Given the description of an element on the screen output the (x, y) to click on. 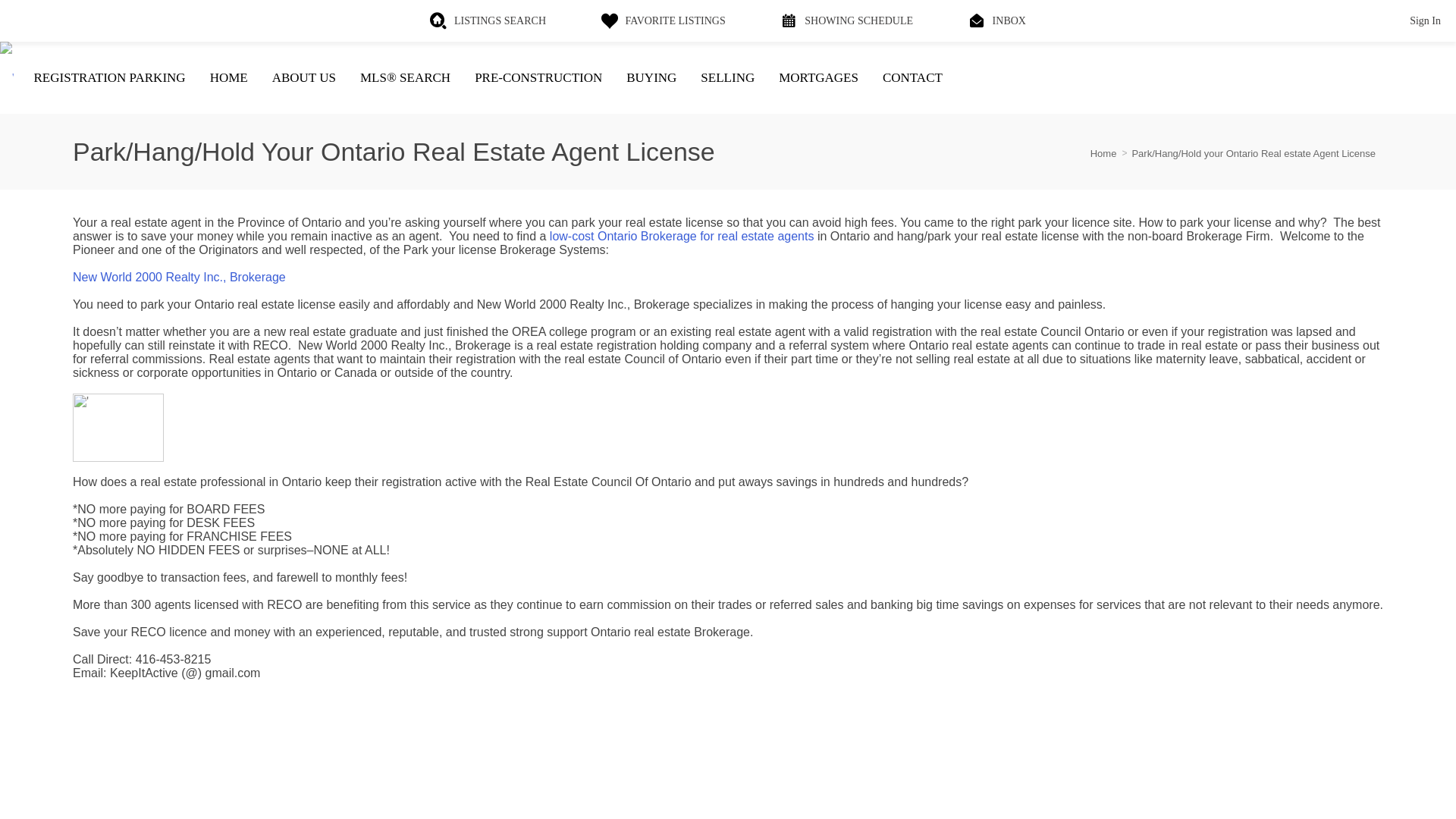
INBOX (997, 20)
Listings Search (487, 20)
low-cost Ontario Brokerage for real estate agents (681, 236)
Favorite Listings (663, 20)
Registration Parking (109, 77)
PRE-CONSTRUCTION (538, 77)
LISTINGS SEARCH (487, 20)
ABOUT US (303, 77)
New World 2000 Realty Inc., Brokerage (178, 277)
SHOWING SCHEDULE (846, 20)
